Given the description of an element on the screen output the (x, y) to click on. 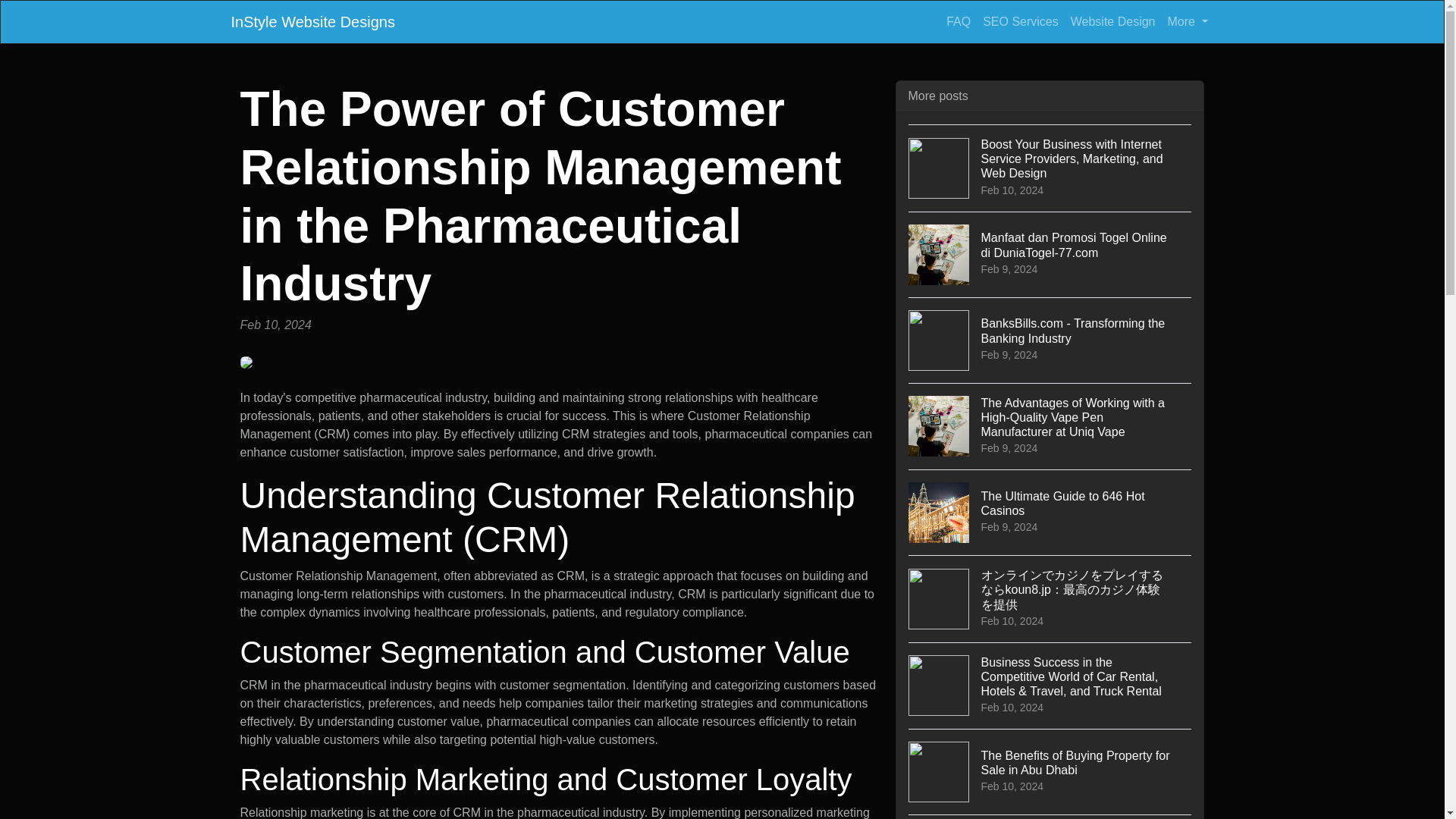
More (1187, 21)
InStyle Website Designs (312, 21)
Website Design (1050, 816)
FAQ (1112, 21)
